Given the description of an element on the screen output the (x, y) to click on. 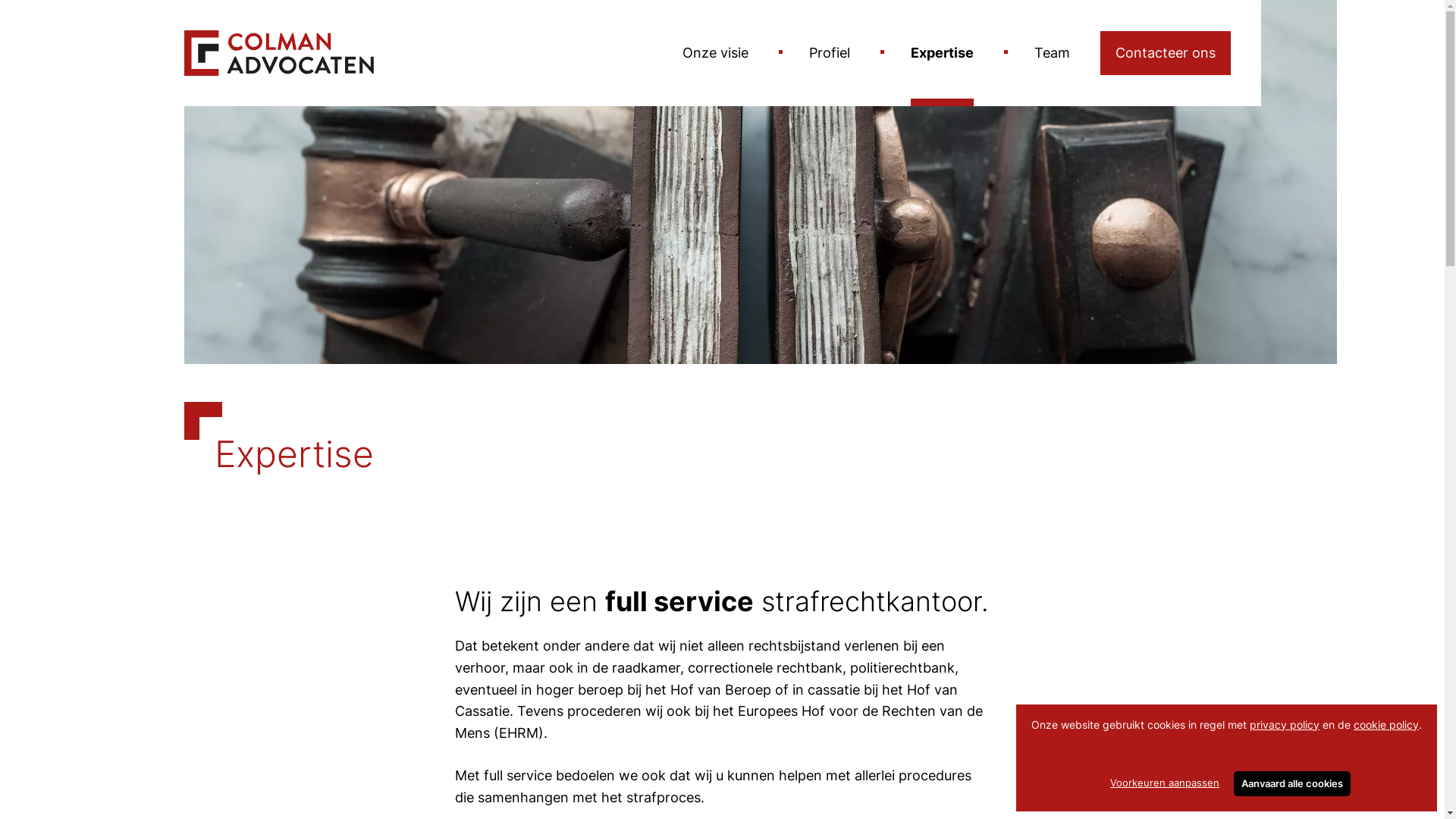
privacy policy Element type: text (1284, 724)
cookie policy Element type: text (1385, 724)
Aanvaard alle cookies Element type: text (1291, 783)
Onze visie Element type: text (715, 53)
Team Element type: text (1052, 53)
Profiel Element type: text (828, 53)
Contacteer ons Element type: text (1164, 53)
Overslaan en naar de inhoud gaan Element type: text (0, 0)
Expertise Element type: text (941, 53)
